Given the description of an element on the screen output the (x, y) to click on. 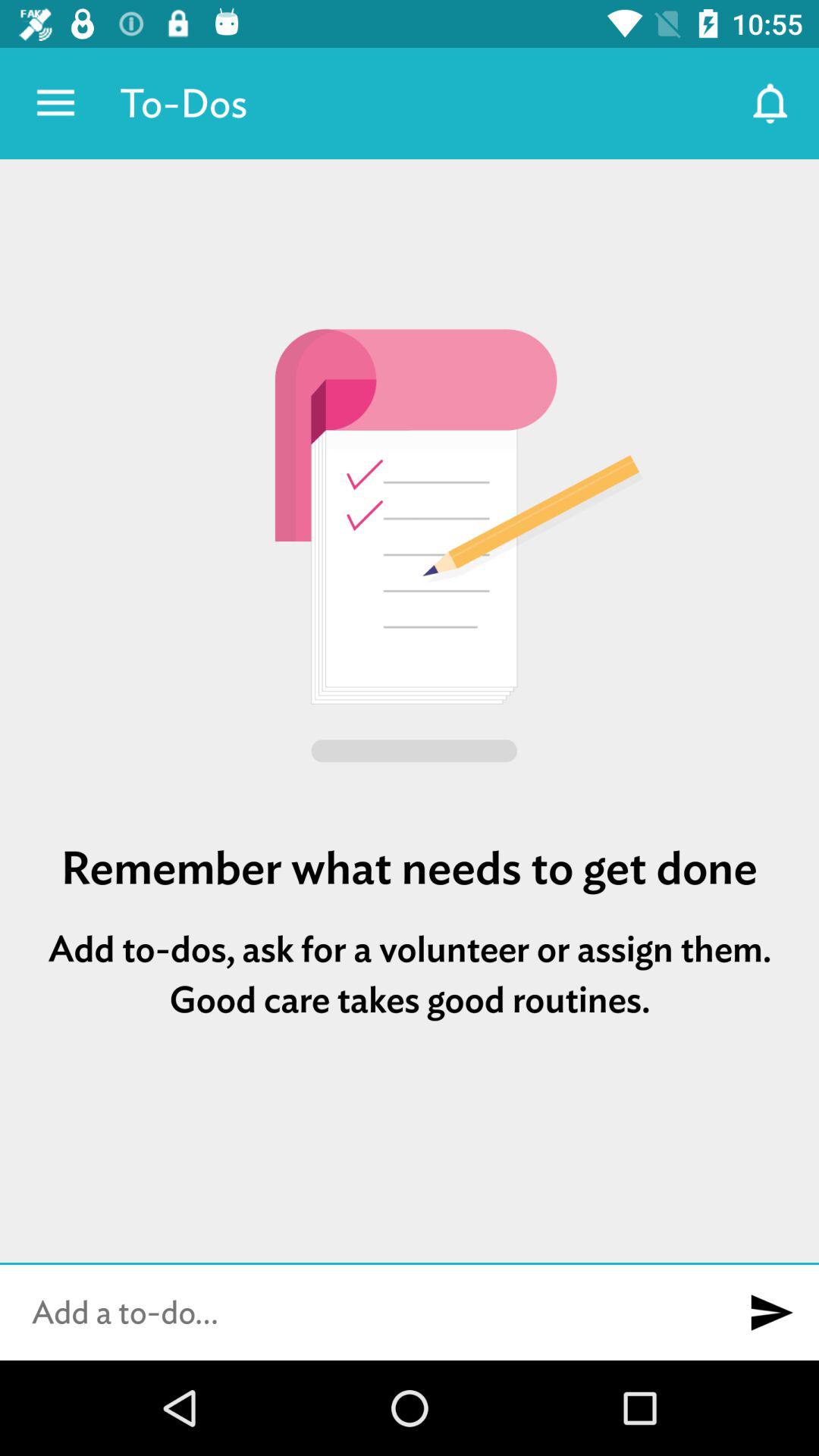
turn off item to the left of the to-dos (55, 103)
